Given the description of an element on the screen output the (x, y) to click on. 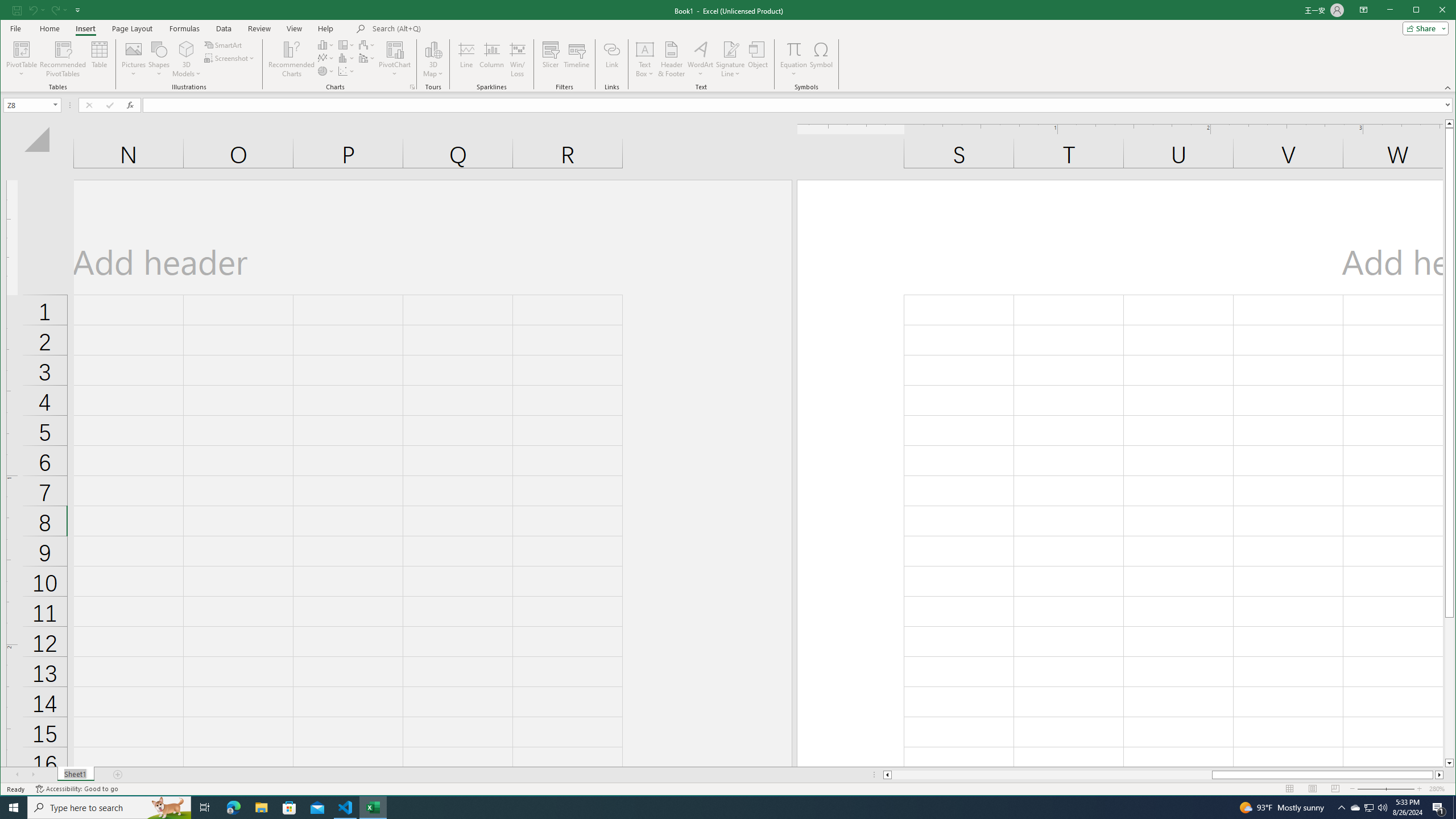
Class: MsoCommandBar (728, 45)
Header & Footer... (670, 59)
Insert Waterfall, Funnel, Stock, Surface, or Radar Chart (366, 44)
Timeline (576, 59)
Symbol... (821, 59)
Insert Scatter (X, Y) or Bubble Chart (346, 70)
User Promoted Notification Area (1368, 807)
Equation (793, 48)
Draw Horizontal Text Box (644, 48)
